Given the description of an element on the screen output the (x, y) to click on. 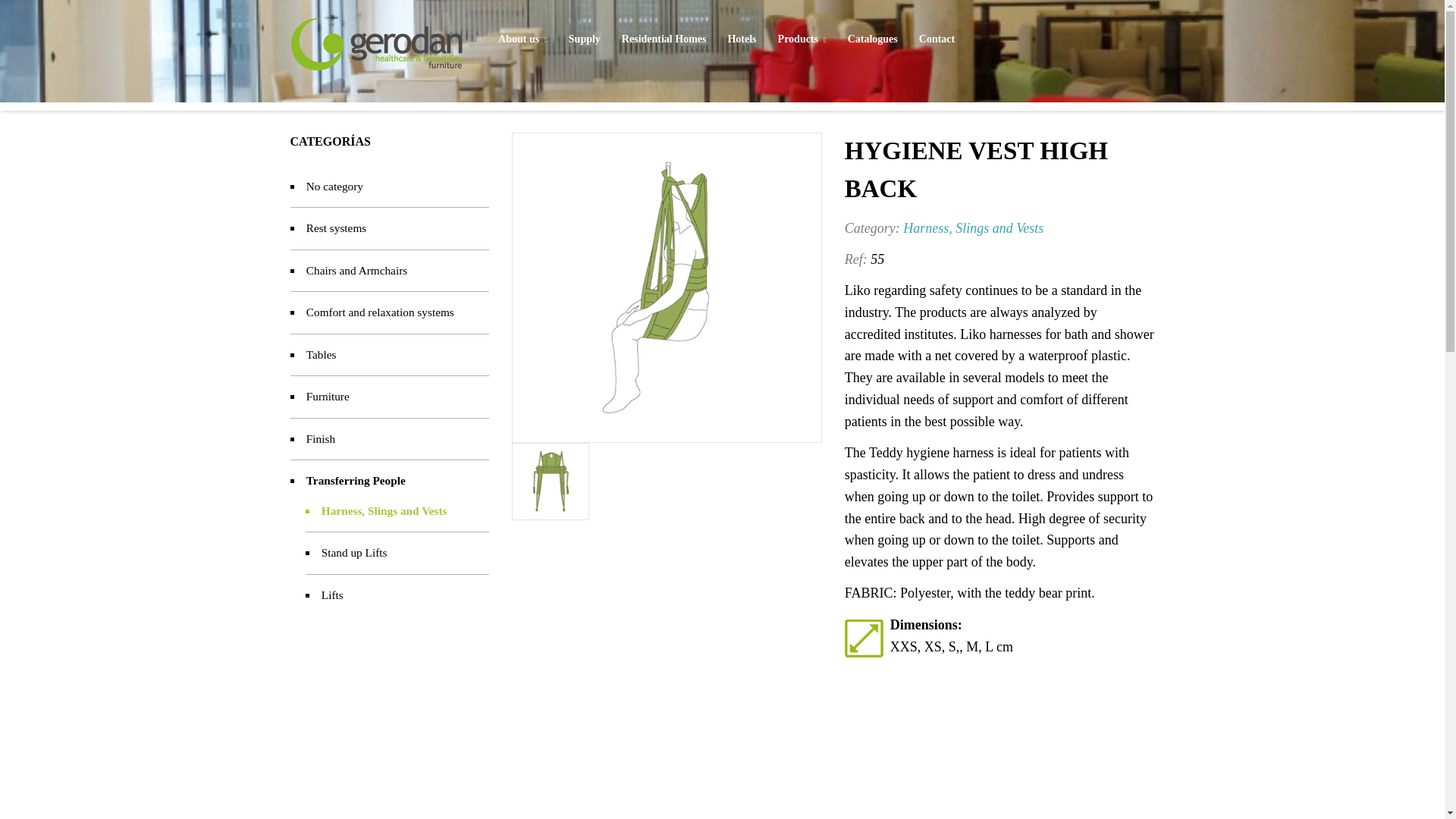
Residential Homes (664, 39)
Hotels (741, 39)
Supply (584, 39)
About us (522, 40)
ES (1107, 2)
EN (1126, 2)
Catalogues (872, 39)
FR (1145, 2)
Contact (936, 39)
Products (802, 40)
Harness, Slings and Vests (972, 227)
